Given the description of an element on the screen output the (x, y) to click on. 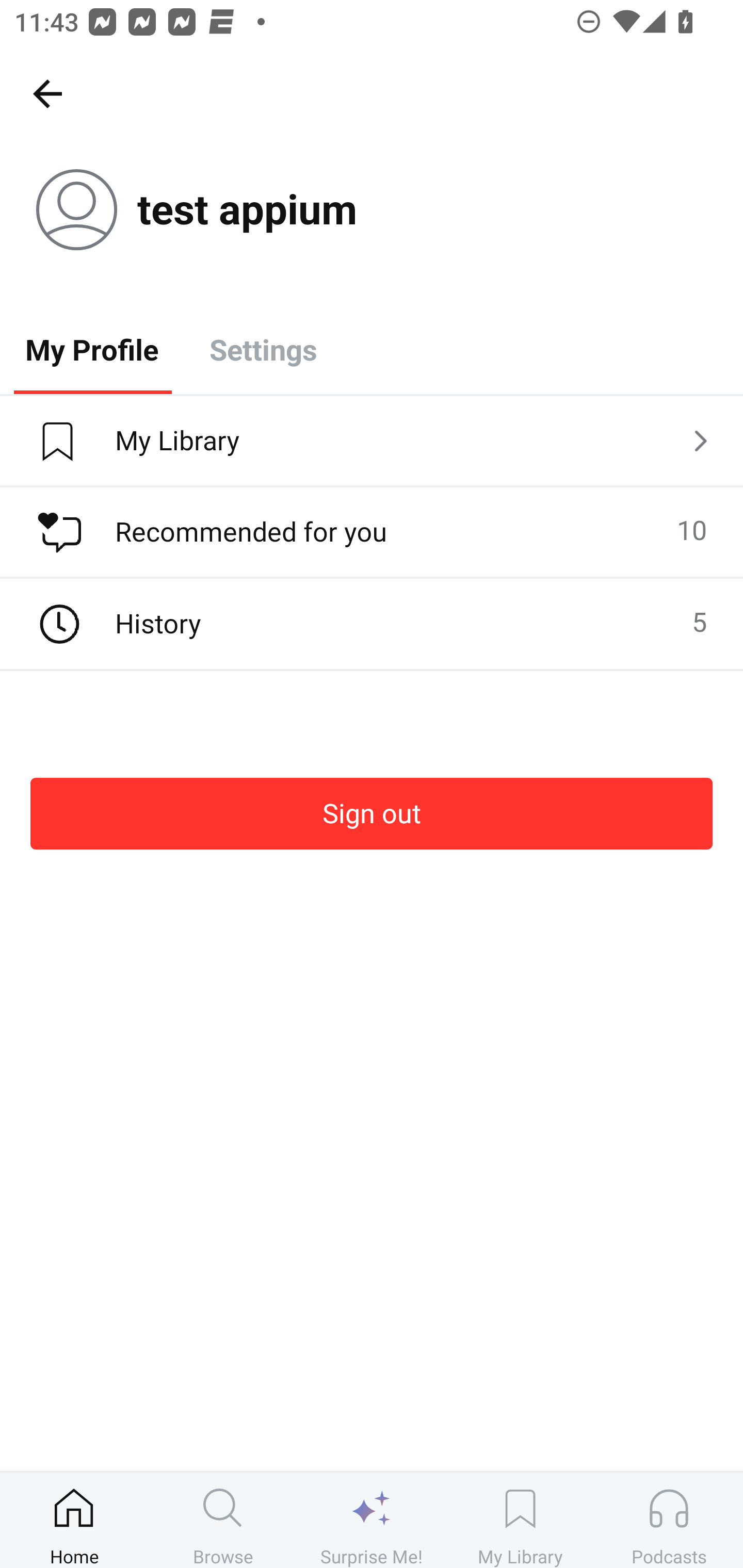
Home, back (47, 92)
My Profile (92, 348)
Settings (263, 348)
My Library (371, 441)
Recommended for you 10 (371, 532)
History 5 (371, 623)
Sign out (371, 813)
Home (74, 1520)
Browse (222, 1520)
Surprise Me! (371, 1520)
My Library (519, 1520)
Podcasts (668, 1520)
